Given the description of an element on the screen output the (x, y) to click on. 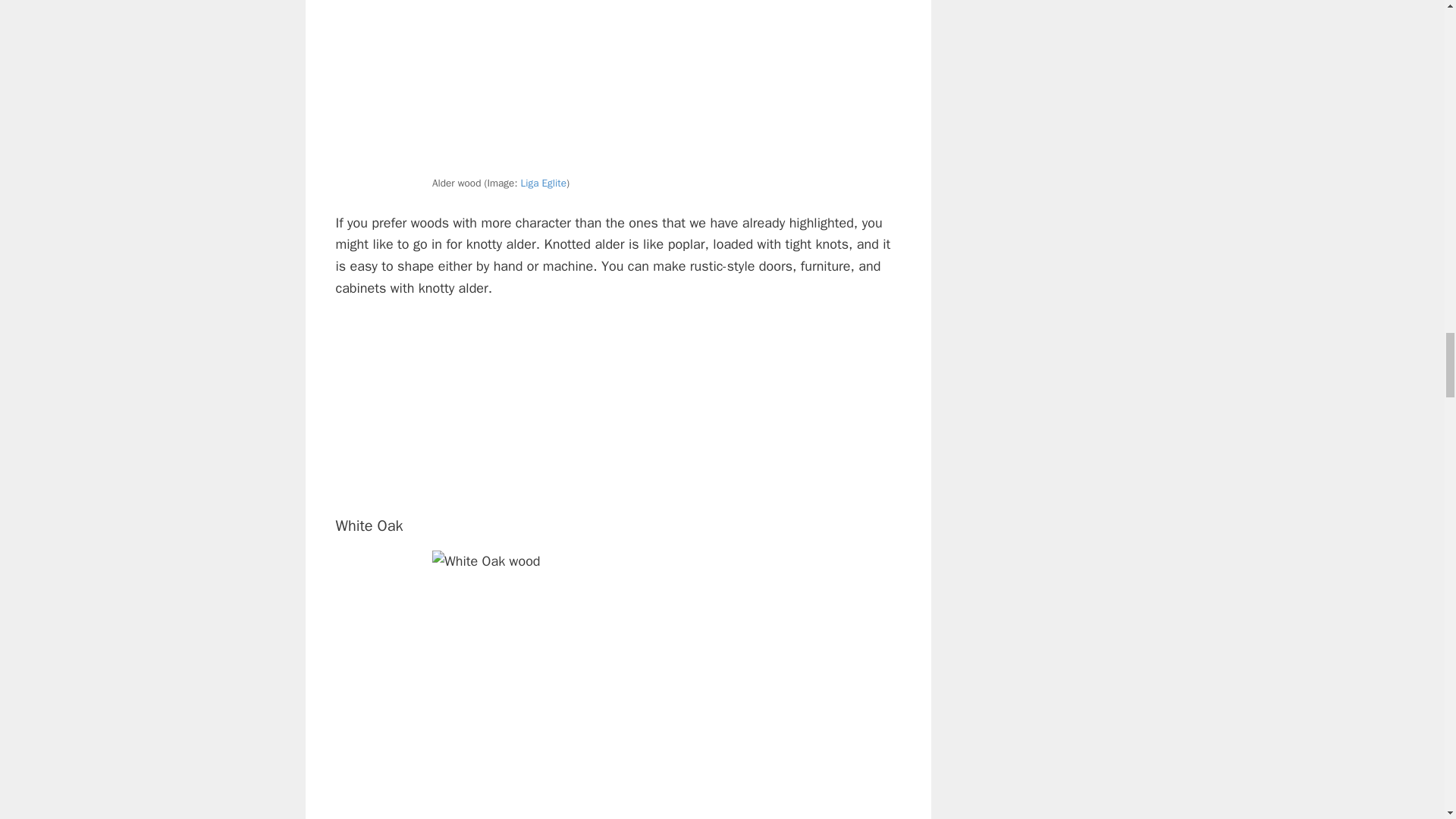
Liga Eglite (542, 182)
